Given the description of an element on the screen output the (x, y) to click on. 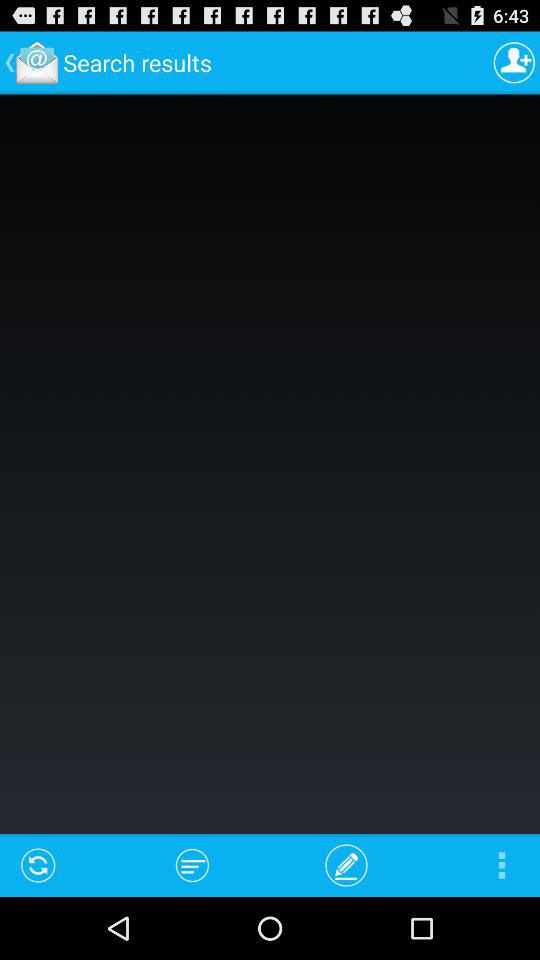
add people (514, 62)
